Given the description of an element on the screen output the (x, y) to click on. 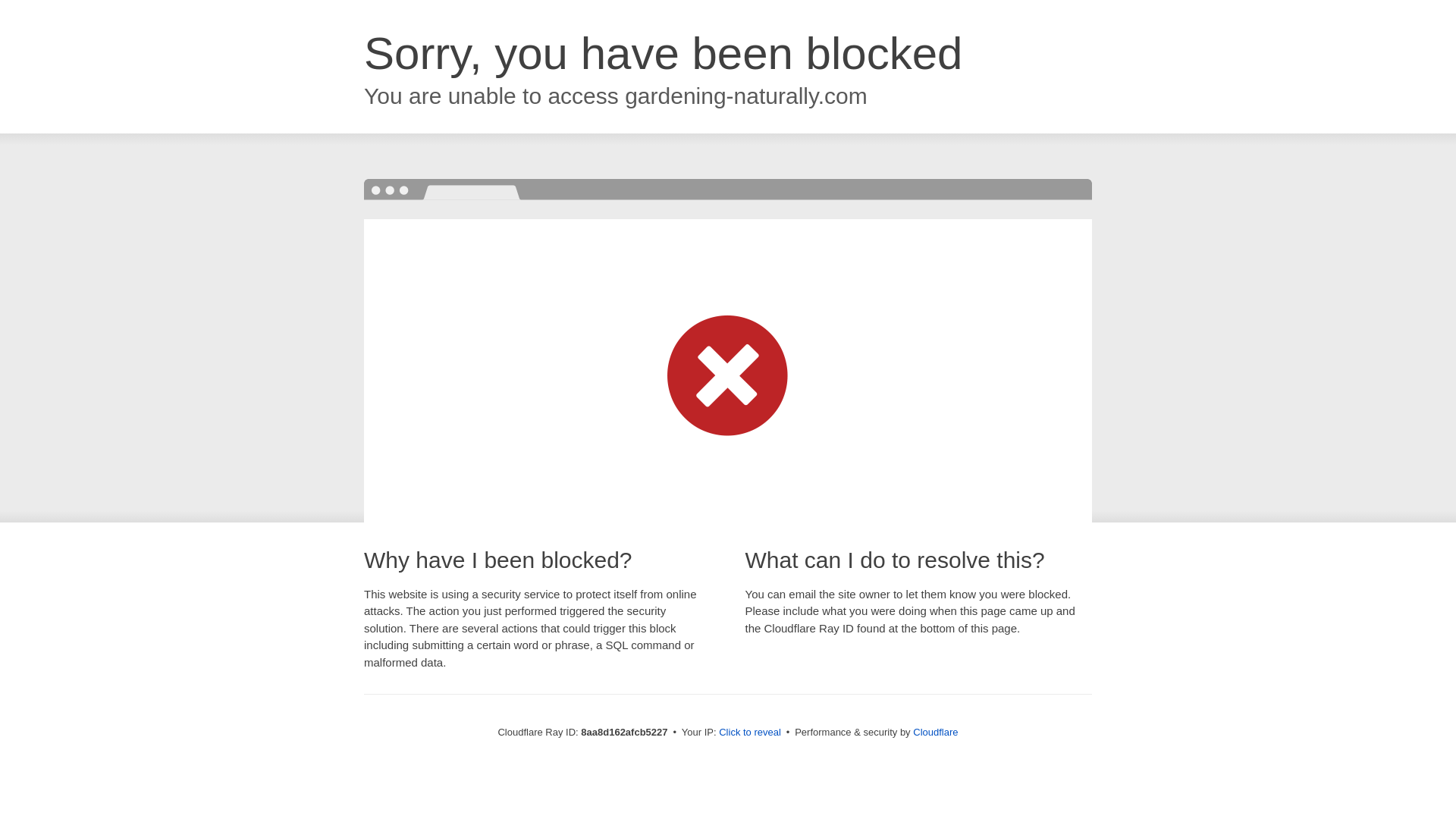
Click to reveal (749, 732)
Cloudflare (935, 731)
